Given the description of an element on the screen output the (x, y) to click on. 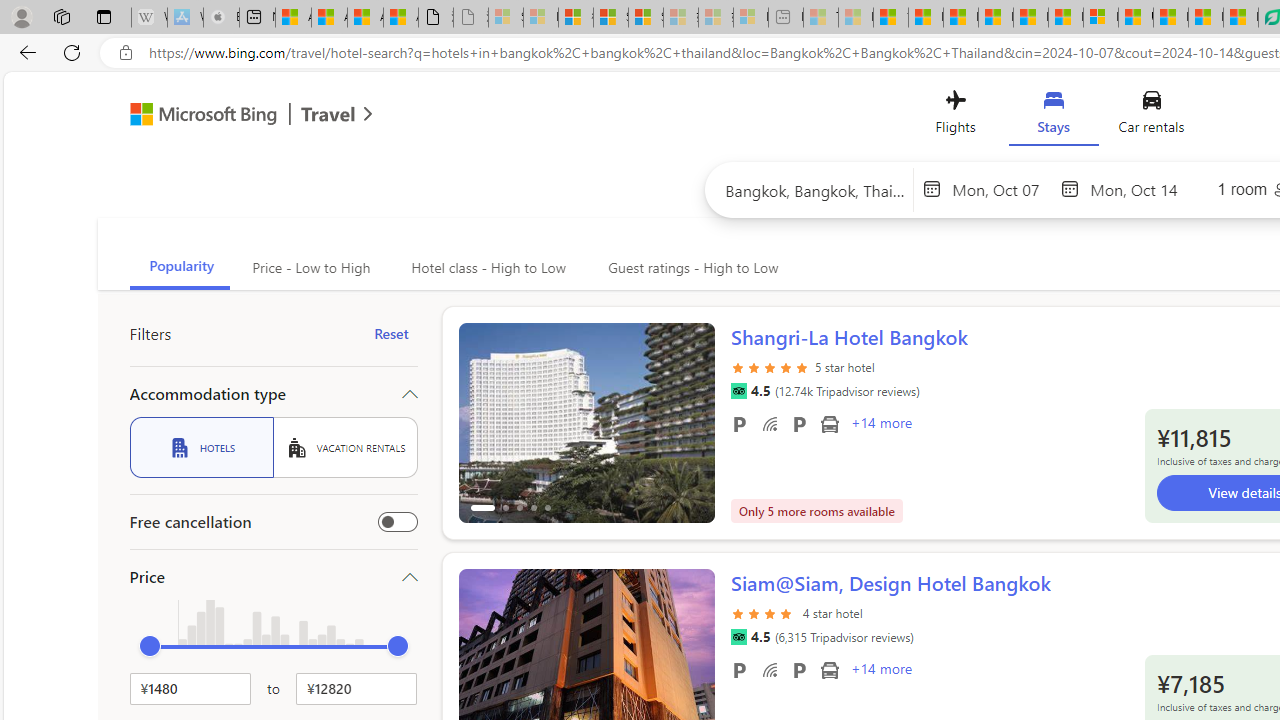
Tripadvisor (738, 637)
Guest ratings - High to Low (690, 268)
US Heat Deaths Soared To Record High Last Year (1135, 17)
Free cancellation (397, 521)
Free parking (738, 669)
Aberdeen, Hong Kong SAR severe weather | Microsoft Weather (401, 17)
Food and Drink - MSN (925, 17)
End date (1139, 188)
Drinking tea every day is proven to delay biological aging (995, 17)
Stays (1053, 116)
Marine life - MSN - Sleeping (855, 17)
Accommodation type (273, 393)
